Given the description of an element on the screen output the (x, y) to click on. 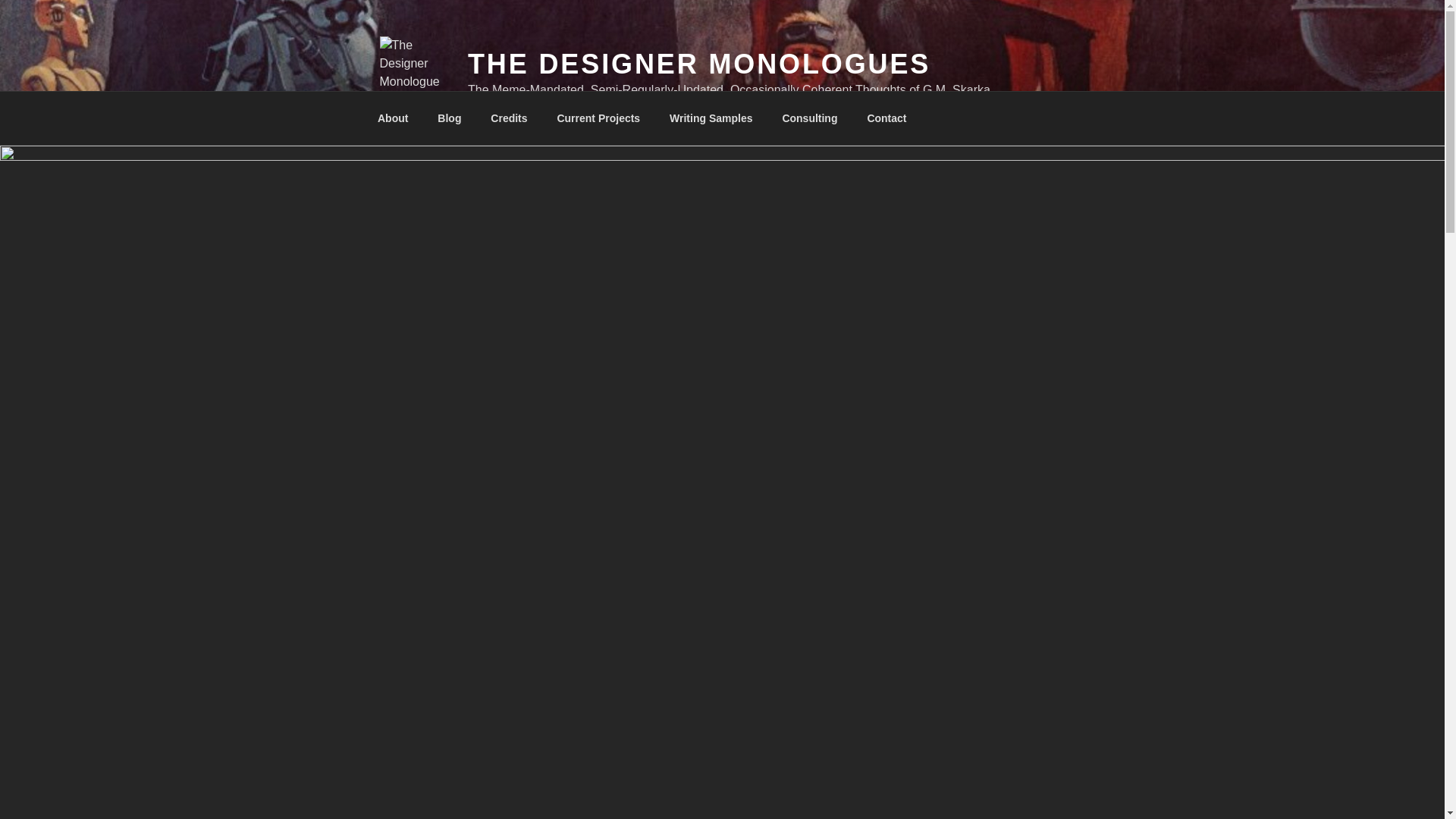
About (392, 118)
Credits (508, 118)
Current Projects (598, 118)
Writing Samples (710, 118)
Blog (449, 118)
Contact (886, 118)
THE DESIGNER MONOLOGUES (698, 63)
Consulting (809, 118)
